Given the description of an element on the screen output the (x, y) to click on. 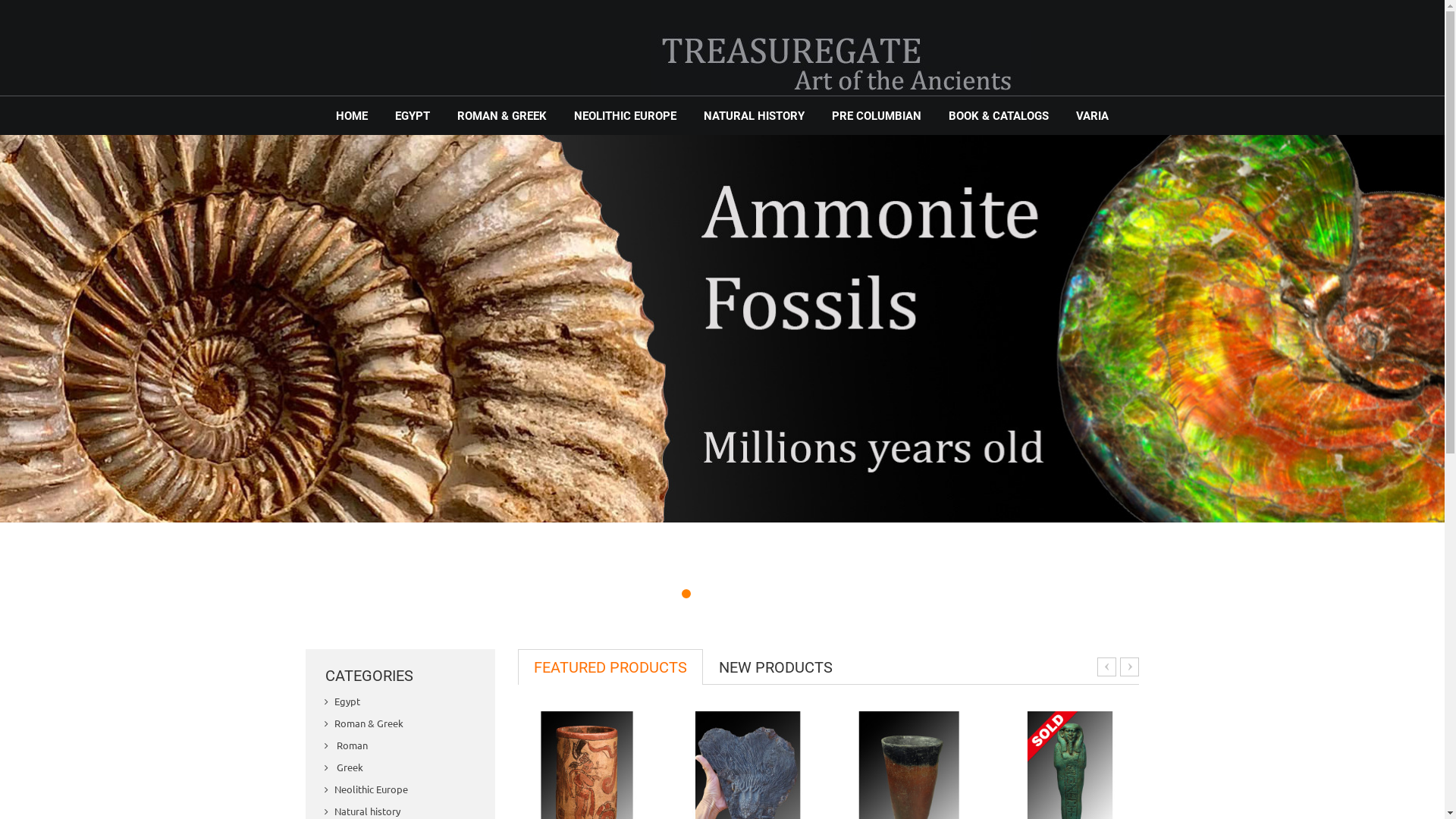
8 Element type: text (766, 593)
Roman & Greek Element type: text (400, 723)
6 Element type: text (739, 593)
EGYPT Element type: text (412, 115)
HOME Element type: text (351, 115)
NEW PRODUCTS Element type: text (775, 666)
3 Element type: text (698, 593)
1 Element type: text (671, 593)
5 Element type: text (726, 593)
homepage Element type: hover (722, 328)
NATURAL HISTORY Element type: text (754, 115)
4 Element type: text (712, 593)
BOOK & CATALOGS Element type: text (998, 115)
Greek Element type: text (400, 767)
VARIA Element type: text (1092, 115)
ROMAN & GREEK Element type: text (501, 115)
Neolithic Europe Element type: text (400, 789)
2 Element type: text (685, 593)
Roman Element type: text (400, 745)
7 Element type: text (753, 593)
Egypt Element type: text (400, 701)
PRE COLUMBIAN Element type: text (876, 115)
NEOLITHIC EUROPE Element type: text (625, 115)
FEATURED PRODUCTS Element type: text (610, 666)
Treasuregate - Art of the Ancient Element type: hover (840, 65)
